Given the description of an element on the screen output the (x, y) to click on. 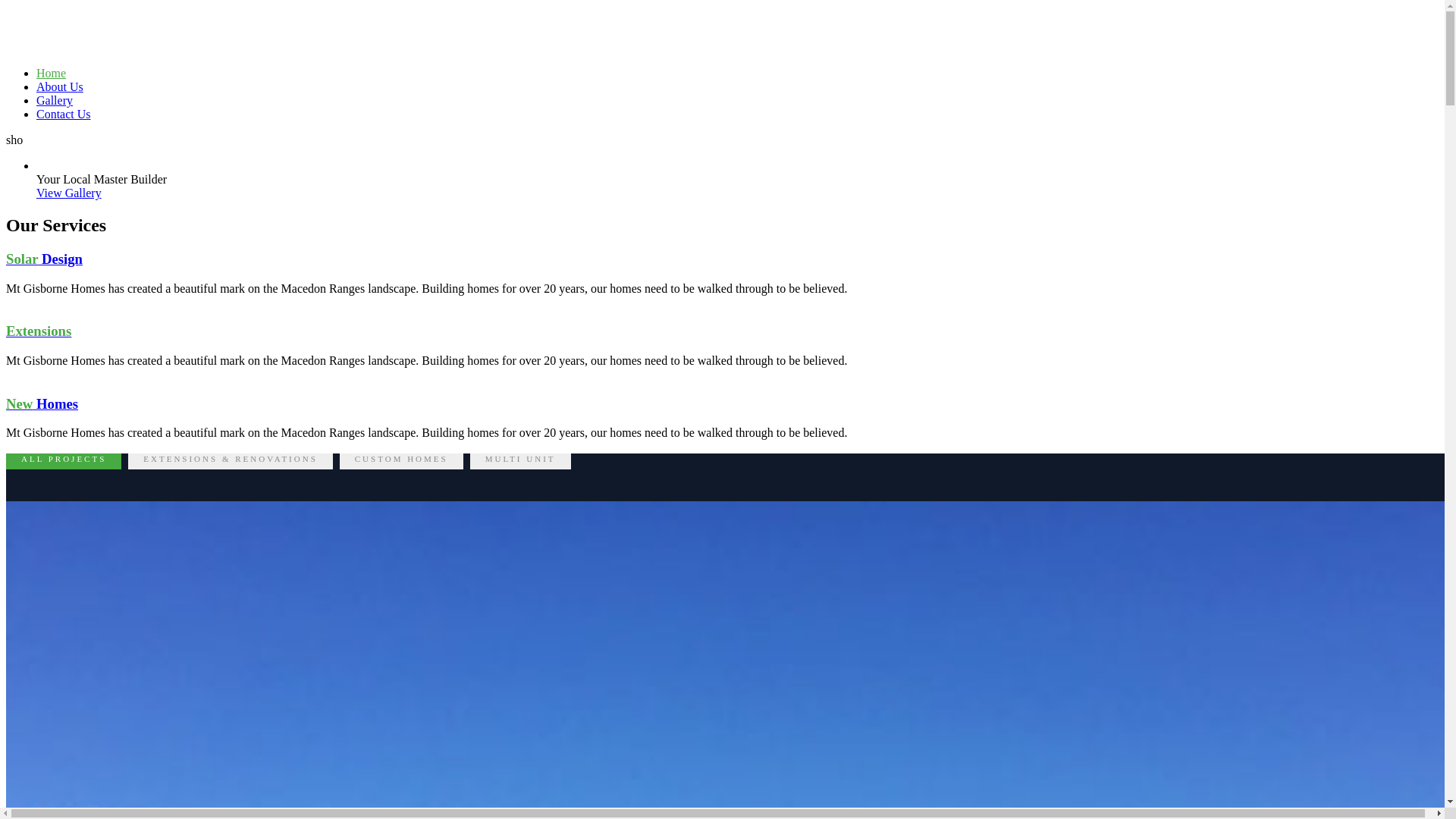
CUSTOM HOMES Element type: text (401, 457)
Solar Design Element type: text (44, 258)
Extensions Element type: text (38, 330)
MULTI UNIT Element type: text (520, 457)
View Gallery Element type: text (68, 192)
About Us Element type: text (59, 86)
Contact Us Element type: text (63, 113)
EXTENSIONS & RENOVATIONS Element type: text (230, 457)
ALL PROJECTS Element type: text (63, 457)
New Homes Element type: text (42, 403)
Gallery Element type: text (54, 100)
Home Element type: text (50, 72)
